Given the description of an element on the screen output the (x, y) to click on. 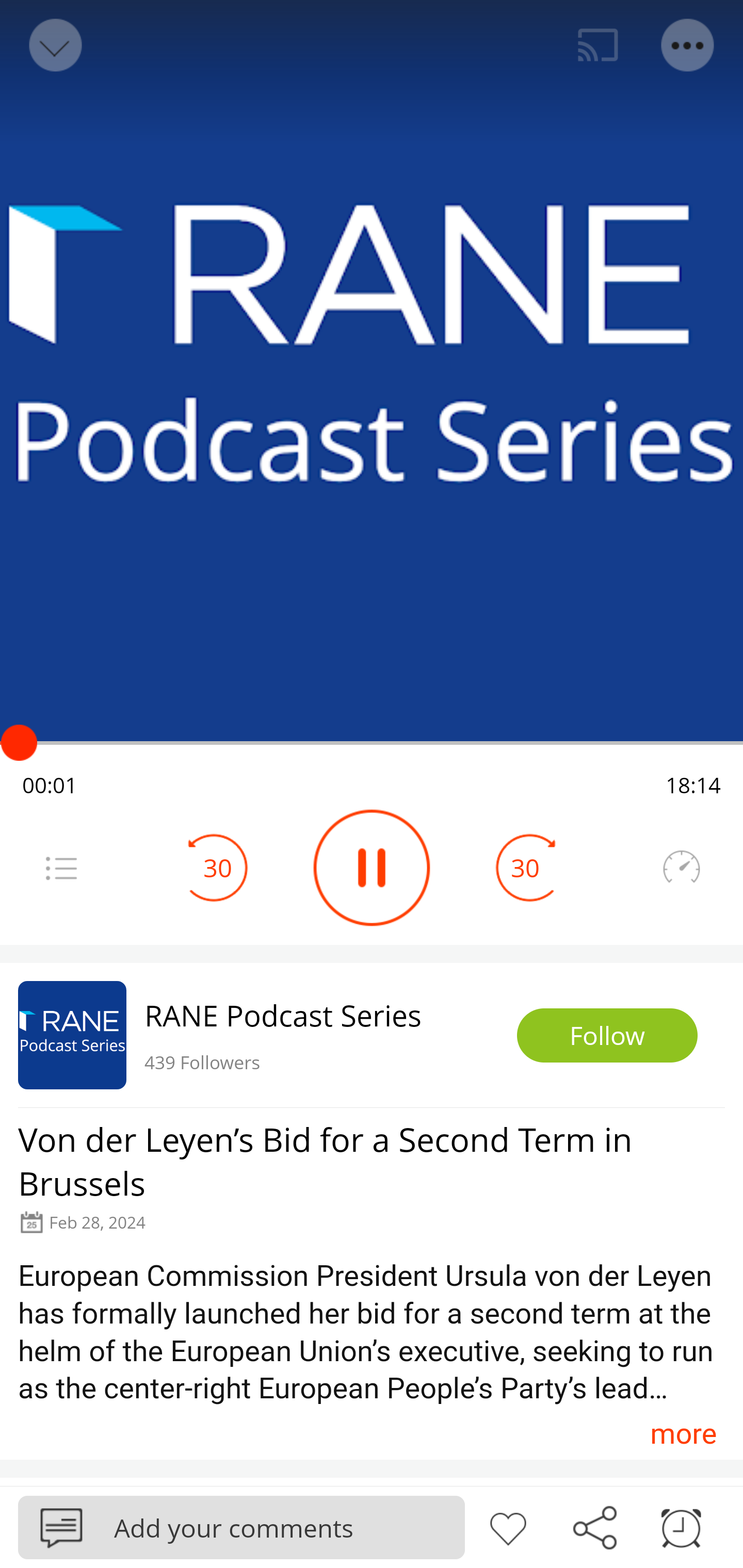
Back (53, 45)
Cast. Disconnected (597, 45)
Menu (688, 45)
Play (371, 867)
30 Seek Backward (217, 867)
30 Seek Forward (525, 867)
Menu (60, 867)
Speedometer (681, 867)
RANE Podcast Series 439 Followers Follow (371, 1034)
Follow (607, 1035)
more (682, 1432)
Like (508, 1526)
Share (594, 1526)
Sleep timer (681, 1526)
Podbean Add your comments (241, 1526)
